Given the description of an element on the screen output the (x, y) to click on. 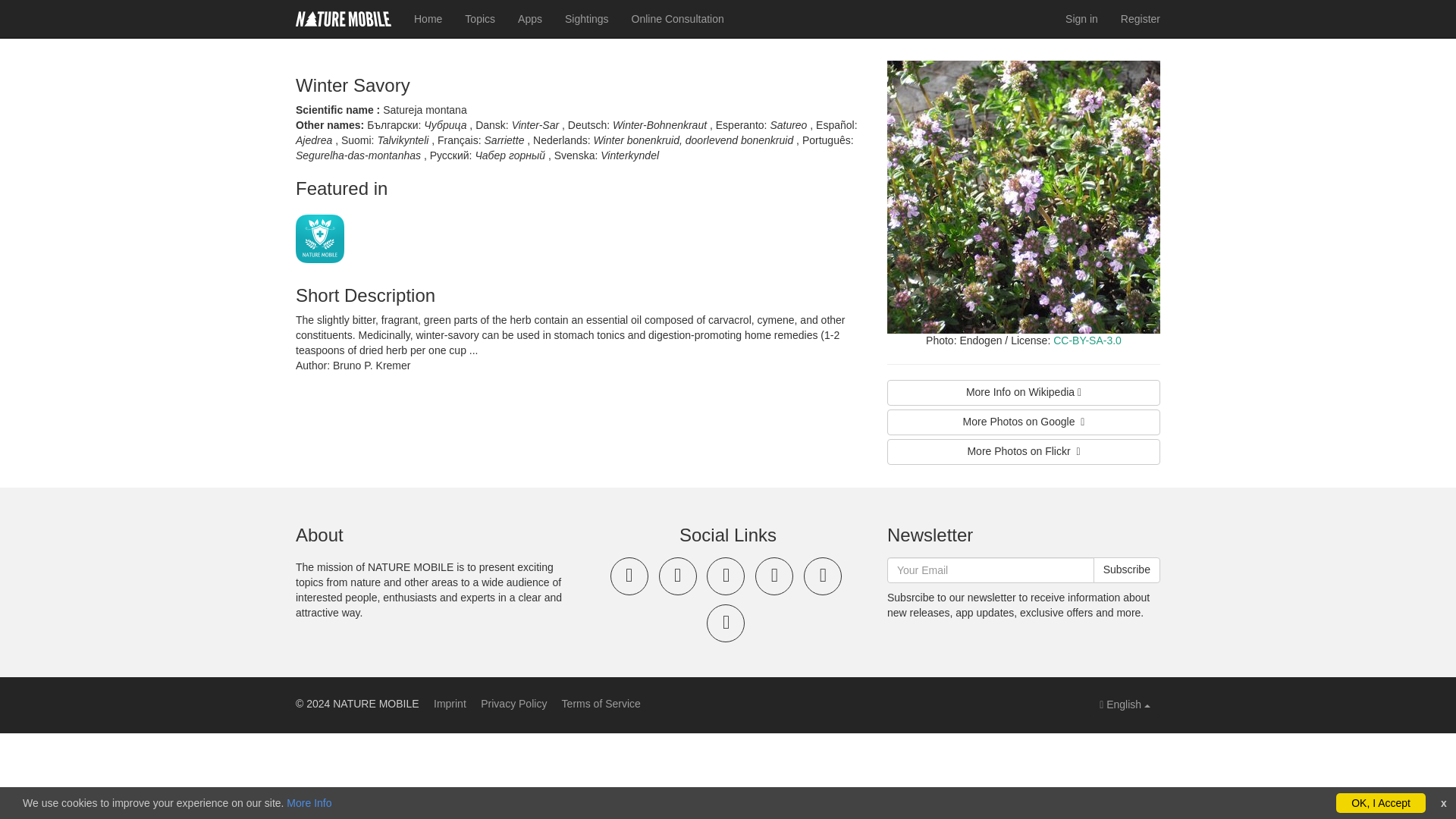
CC-BY-SA-3.0 (1086, 340)
Register (1140, 18)
Online Consultation (677, 18)
Privacy Policy (513, 703)
More Info on Wikipedia  (1023, 392)
Subscribe (1126, 570)
Apps (529, 18)
Sign in (1081, 18)
Terms of Service (601, 703)
English (1124, 705)
